Given the description of an element on the screen output the (x, y) to click on. 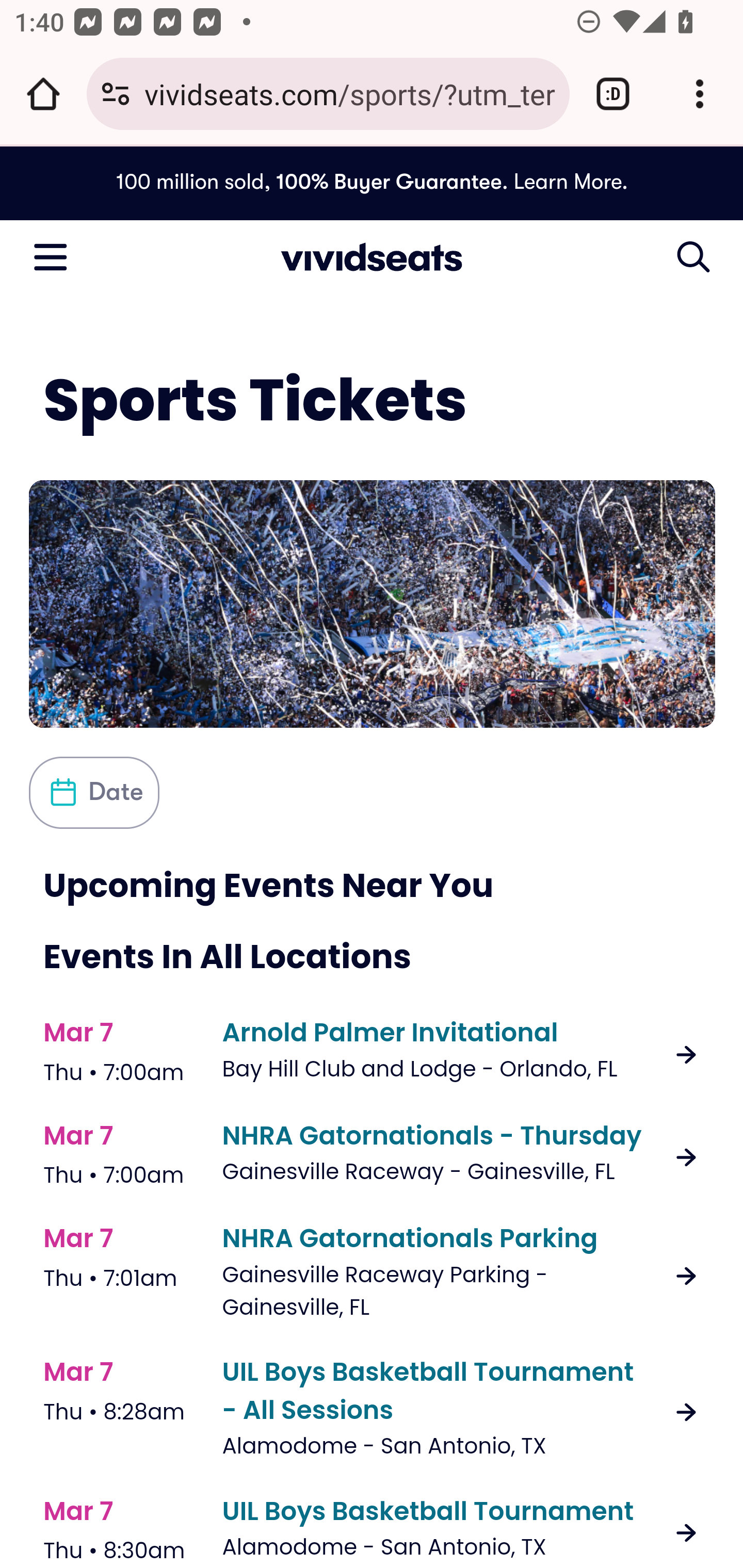
Open the home page (43, 93)
Connection is secure (115, 93)
Switch or close tabs (612, 93)
Customize and control Google Chrome (699, 93)
 (693, 256)
Open the menu (50, 254)
Link to homepage (371, 255)
filter (94, 792)
